Given the description of an element on the screen output the (x, y) to click on. 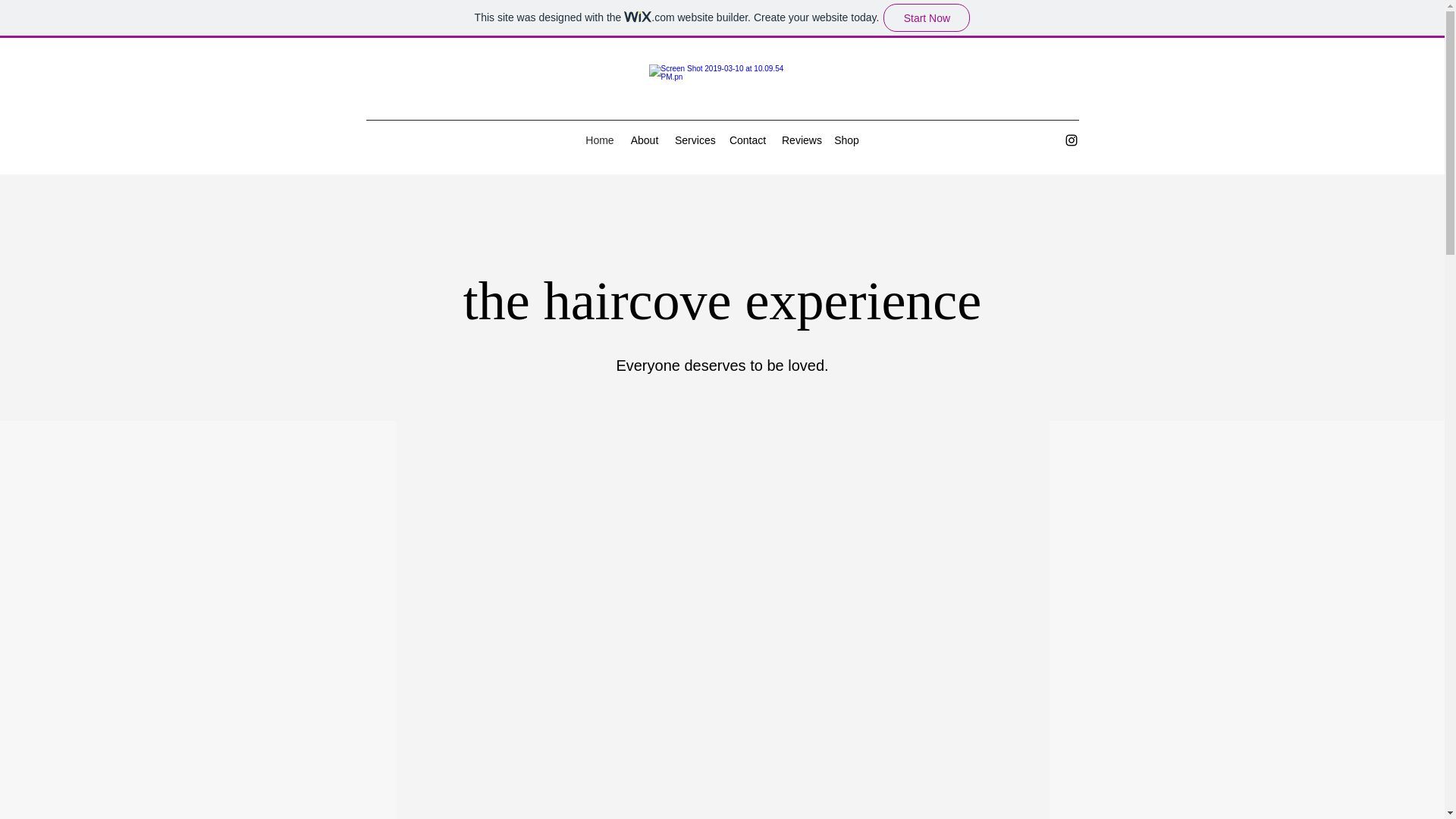
Reviews (800, 139)
Contact (747, 139)
Home (599, 139)
About (643, 139)
Services (693, 139)
Shop (846, 139)
